Given the description of an element on the screen output the (x, y) to click on. 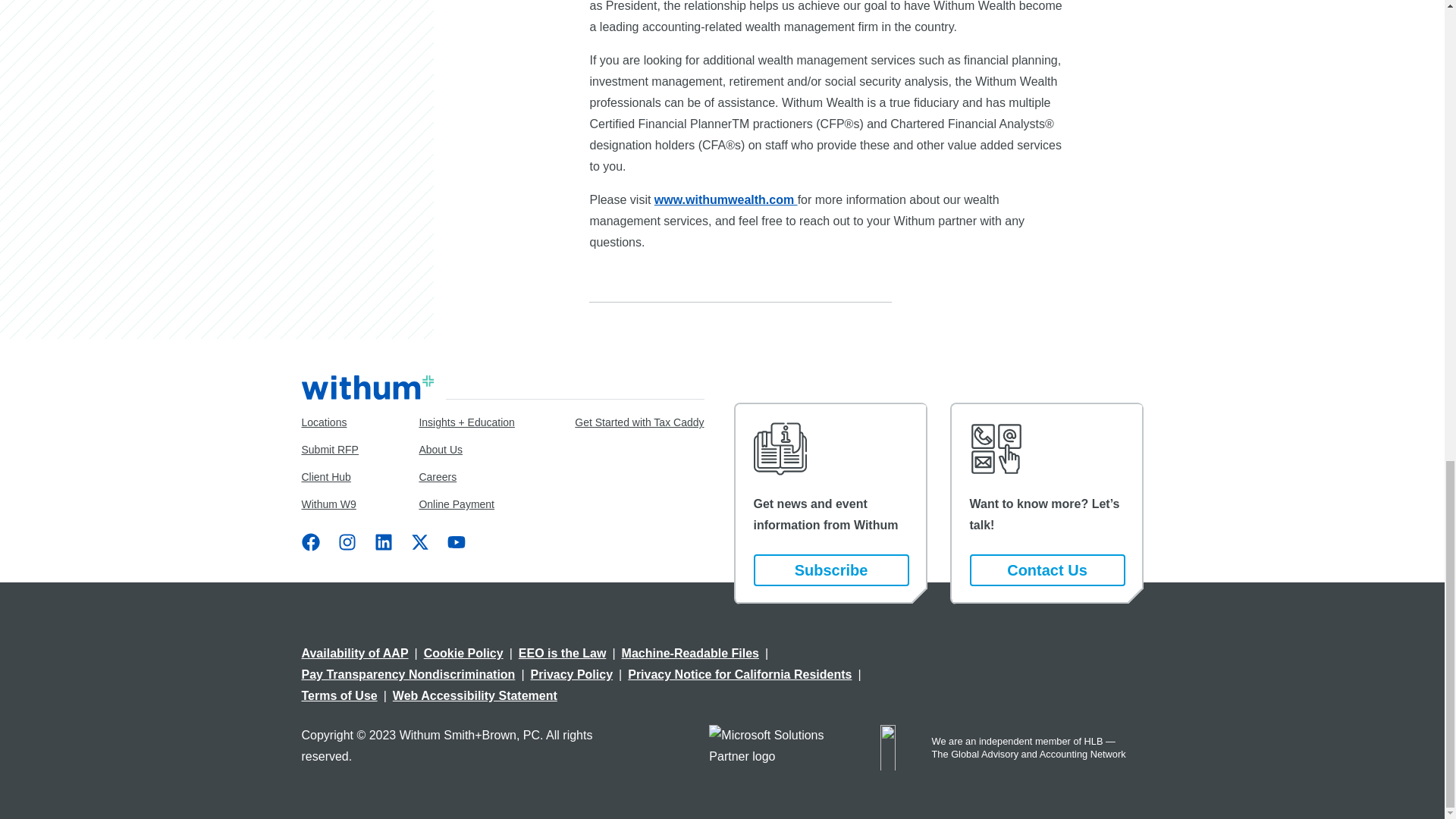
linkedin (383, 542)
twitter (419, 542)
youtube (455, 542)
facebook (310, 542)
instagram (346, 542)
